Given the description of an element on the screen output the (x, y) to click on. 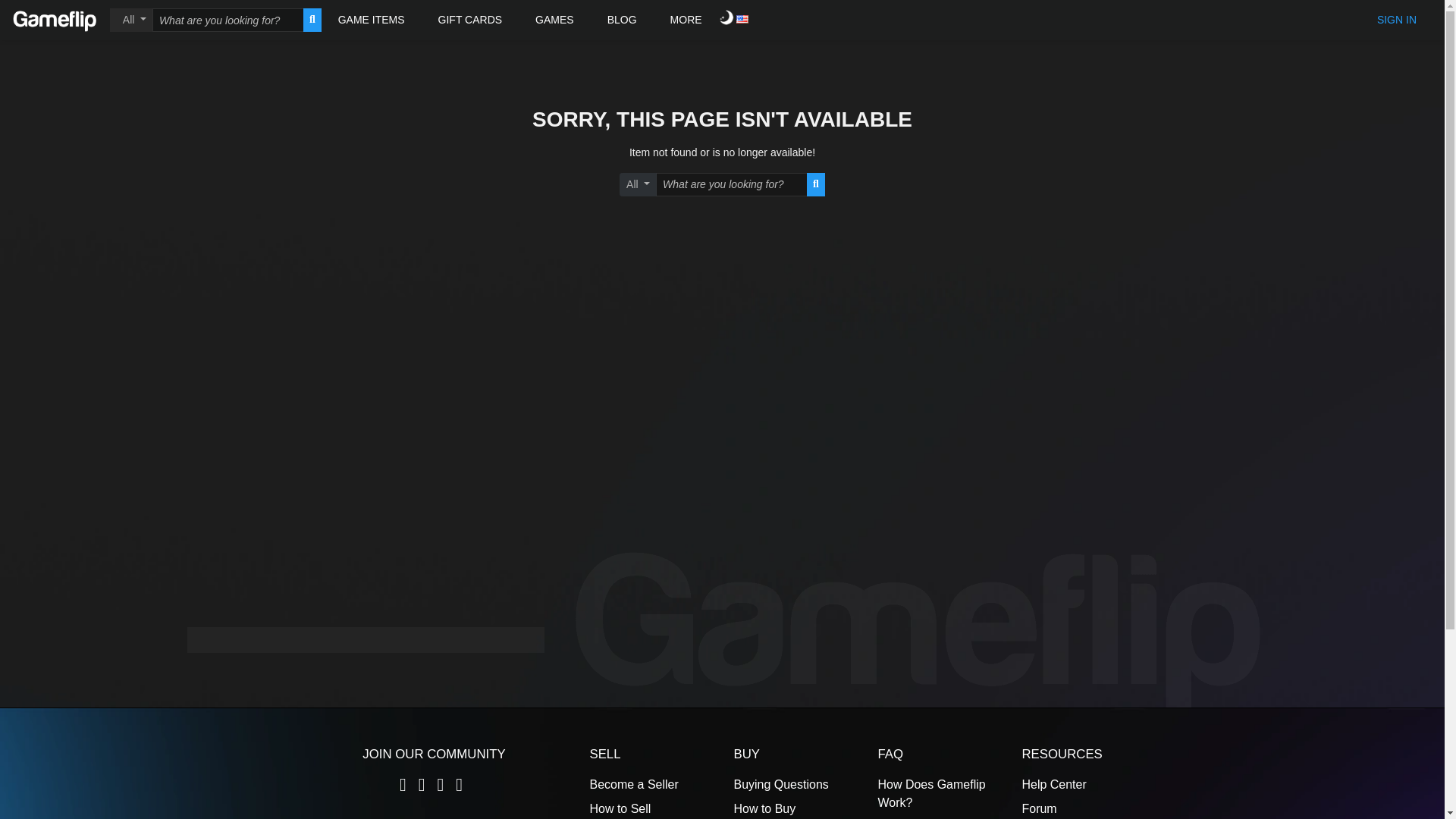
GIFT CARDS (470, 20)
All (131, 19)
Gameflip (54, 20)
GAME ITEMS (371, 20)
